Given the description of an element on the screen output the (x, y) to click on. 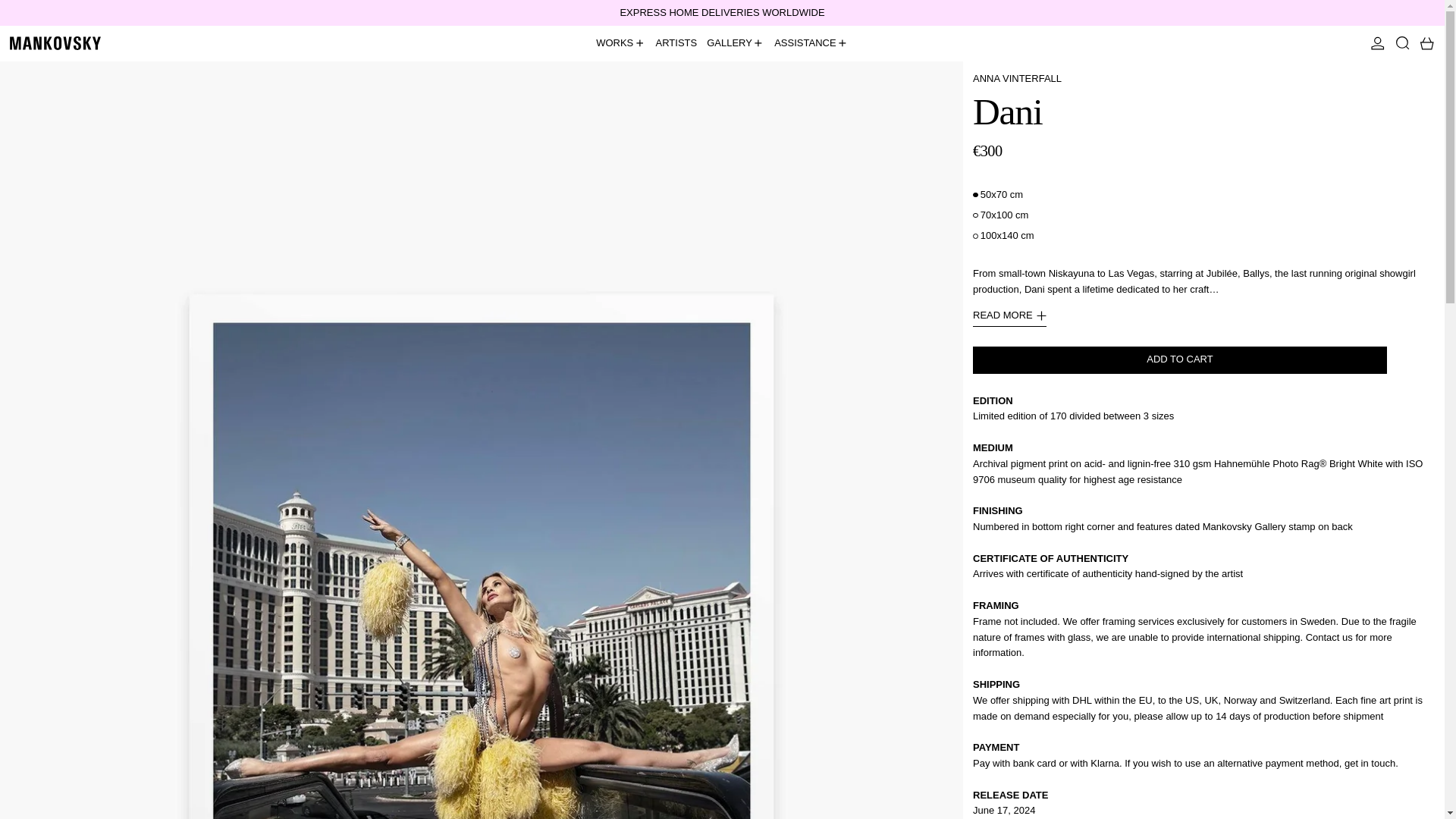
GALLERY (735, 43)
ADD TO CART (1179, 359)
ARTISTS (676, 43)
ANNA VINTERFALL (1016, 78)
READ MORE (1009, 316)
WORKS (620, 43)
ASSISTANCE (811, 43)
